Given the description of an element on the screen output the (x, y) to click on. 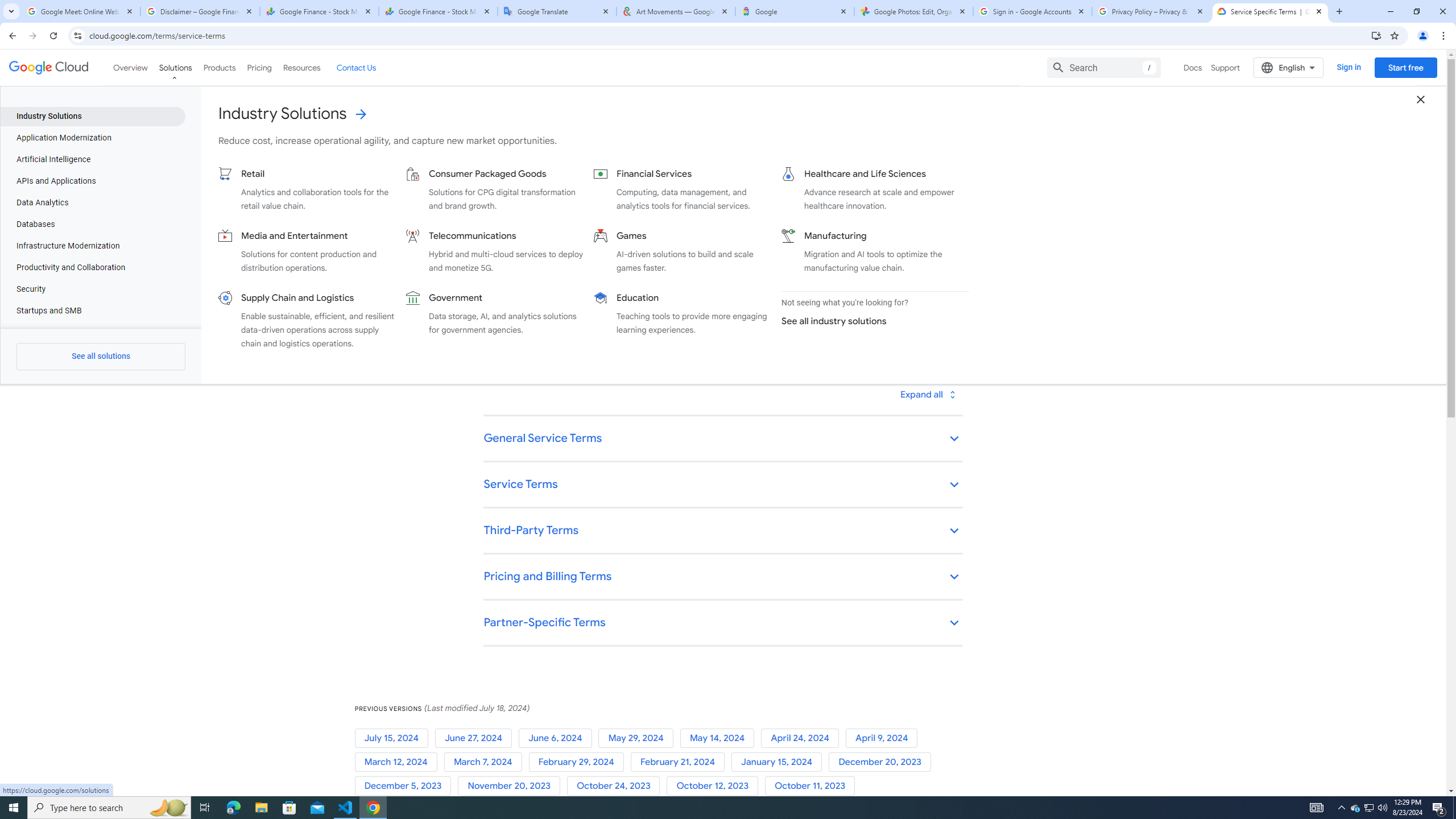
February 21, 2024 (680, 761)
December 20, 2023 (882, 761)
Service Terms keyboard_arrow_down (722, 485)
See all industry solutions (870, 321)
Solutions (175, 67)
March 7, 2024 (486, 761)
Pricing (259, 67)
Search (1103, 67)
April 24, 2024 (803, 737)
Google (794, 11)
https://cloud.google.com/terms/services (799, 208)
December 5, 2023 (405, 786)
